Given the description of an element on the screen output the (x, y) to click on. 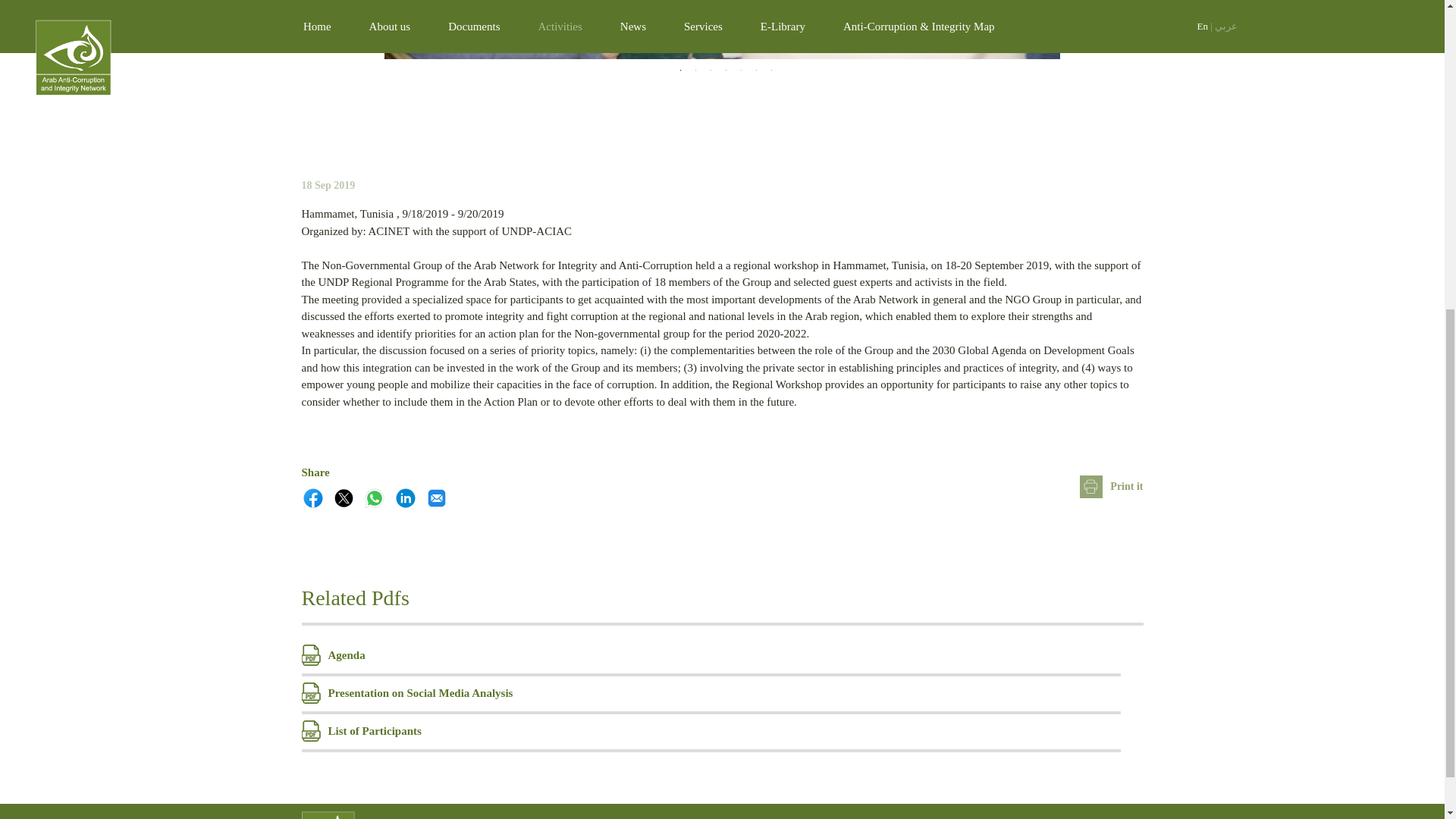
Print it (1111, 486)
List of Participants (711, 731)
Presentation on Social Media Analysis (711, 692)
Agenda (711, 654)
